Given the description of an element on the screen output the (x, y) to click on. 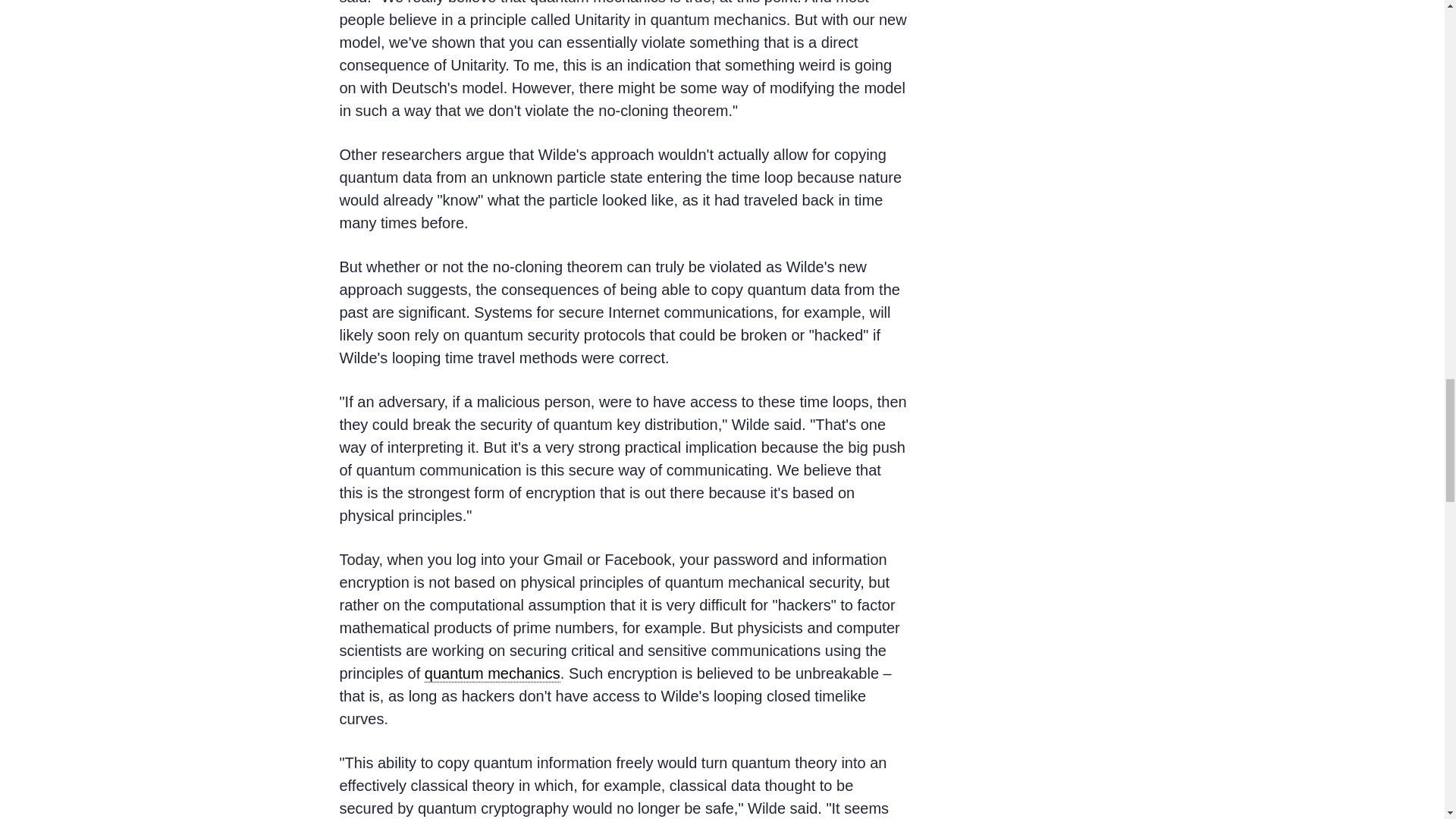
quantum mechanics (492, 673)
